Given the description of an element on the screen output the (x, y) to click on. 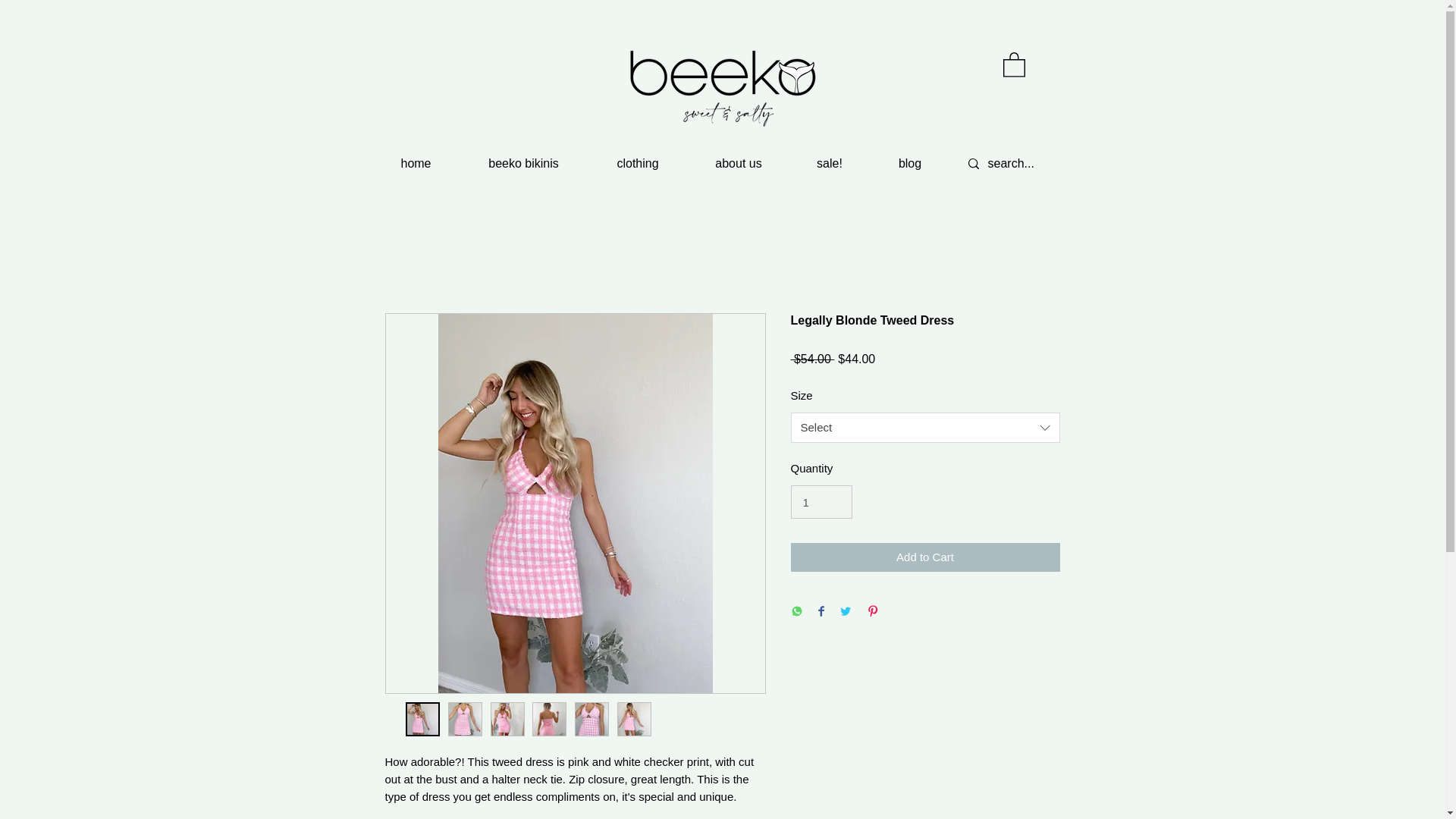
blog (909, 163)
Add to Cart (924, 557)
1 (820, 501)
beeko bikinis (524, 163)
about us (738, 163)
sale! (829, 163)
home (416, 163)
clothing (636, 163)
Select (924, 427)
